Given the description of an element on the screen output the (x, y) to click on. 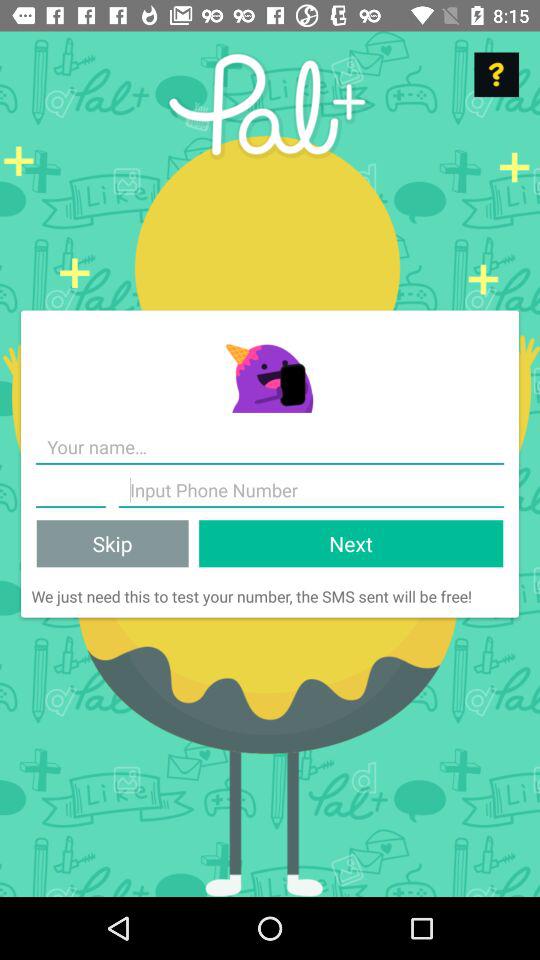
input name (269, 447)
